Given the description of an element on the screen output the (x, y) to click on. 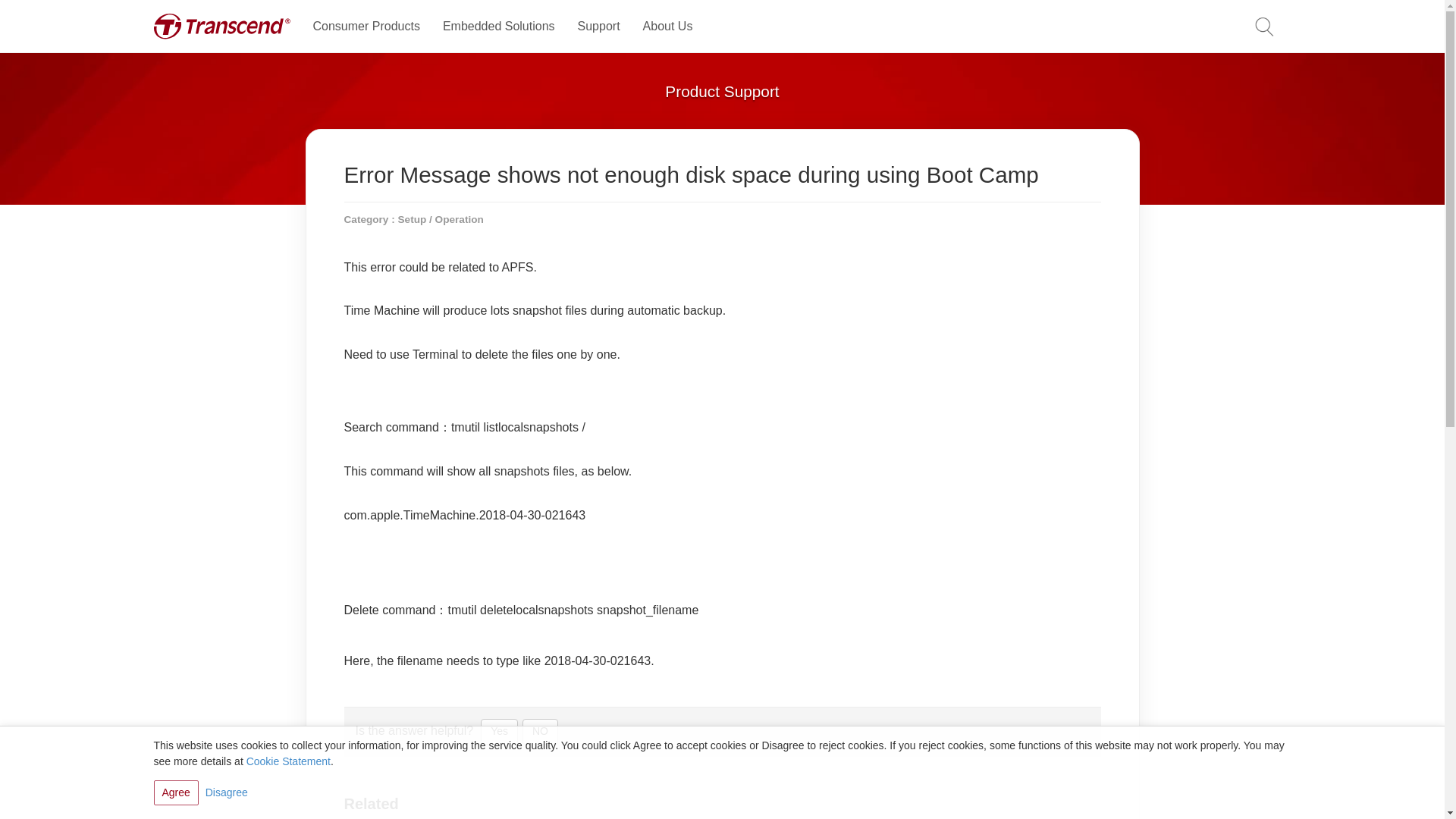
Consumer Products (365, 26)
NO (539, 731)
Yes (499, 731)
